Given the description of an element on the screen output the (x, y) to click on. 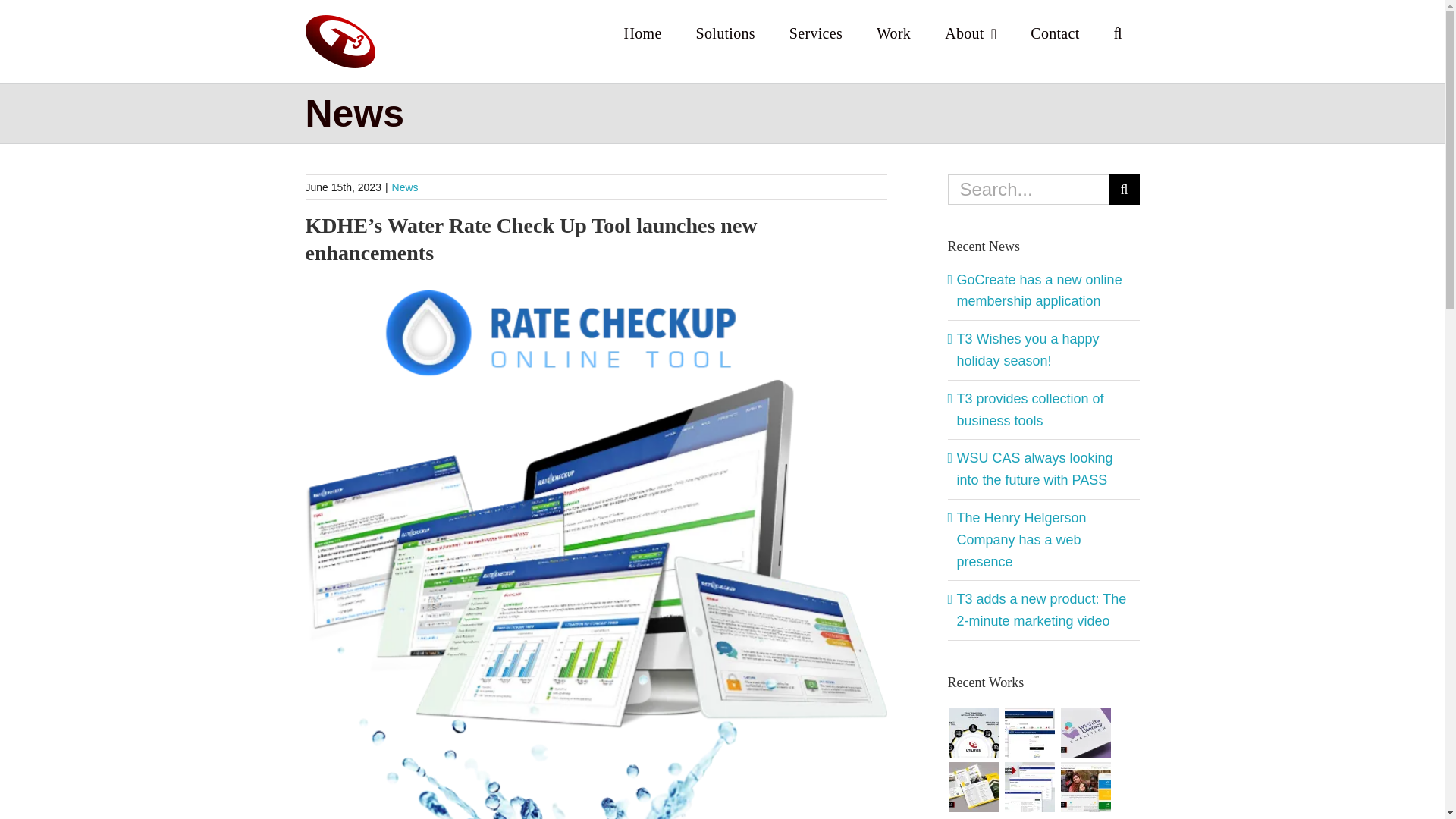
T3 Utilities (973, 732)
Kansas Caregivers Support Network (1085, 787)
Contact (1054, 31)
Molecular Diagnostics Lab (973, 787)
Solutions (724, 31)
HCBS Compliance Portal (1030, 732)
Services (815, 31)
Home (642, 31)
Wichita Literacy Coalition (1085, 732)
About (970, 31)
PathworKS (1030, 787)
Work (894, 31)
